Given the description of an element on the screen output the (x, y) to click on. 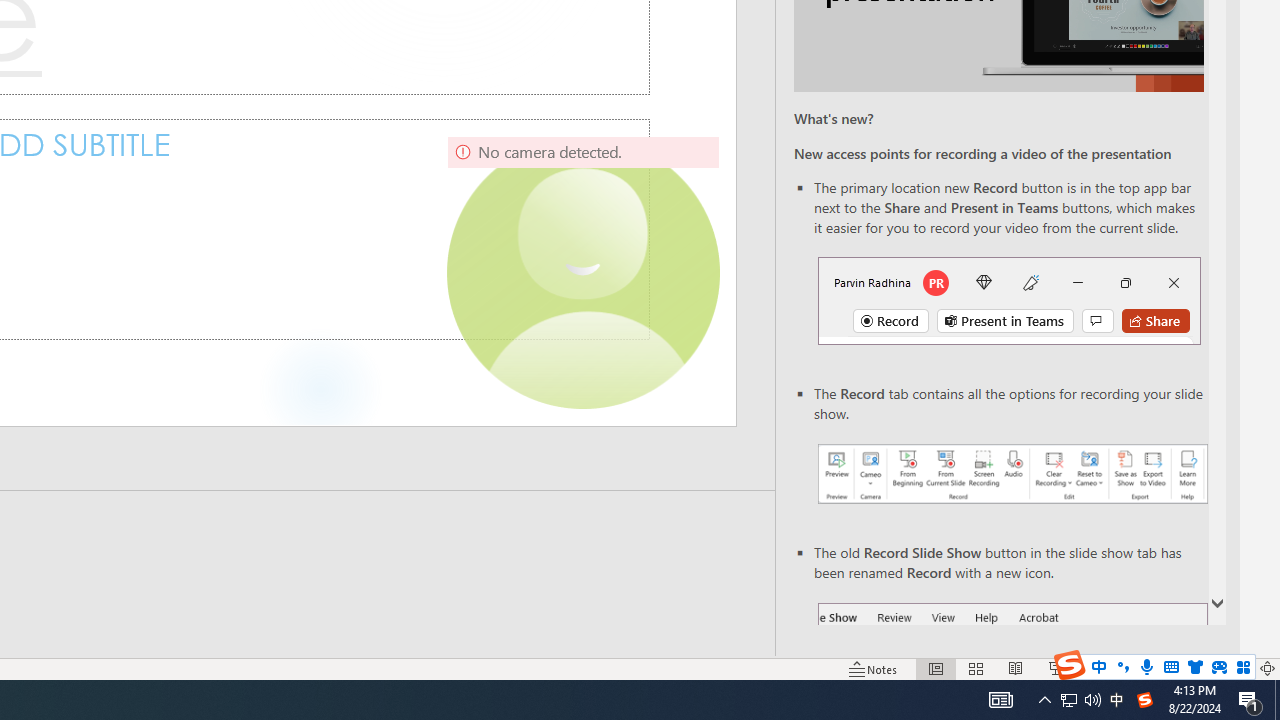
Slide Show (1055, 668)
Zoom (1144, 668)
Zoom Out (1121, 668)
Zoom 129% (1234, 668)
Normal (936, 668)
Zoom to Fit  (1267, 668)
Slide Sorter (975, 668)
Notes  (874, 668)
Record your presentations screenshot one (1012, 473)
Record button in top bar (1008, 300)
Zoom In (1204, 668)
Reading View (1015, 668)
